Given the description of an element on the screen output the (x, y) to click on. 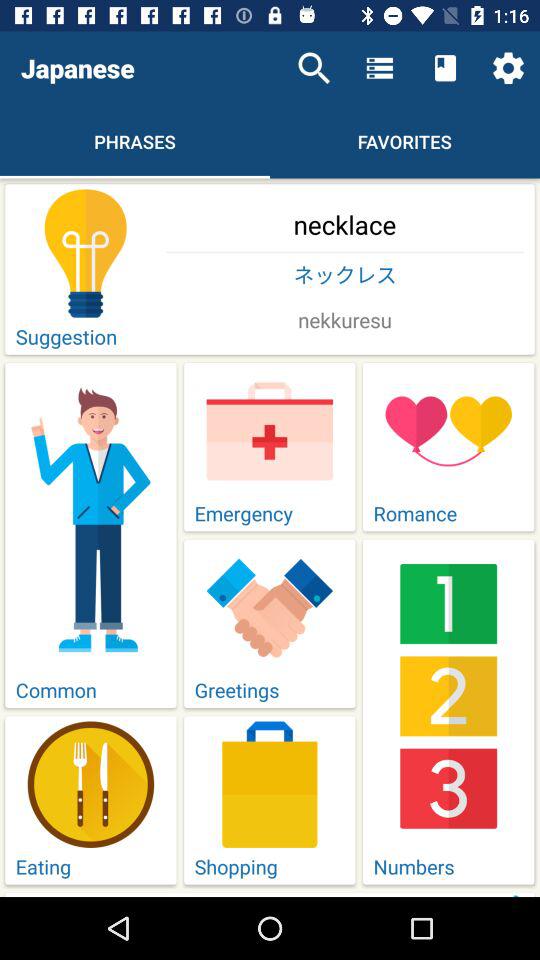
turn on the icon to the right of japanese icon (313, 67)
